Given the description of an element on the screen output the (x, y) to click on. 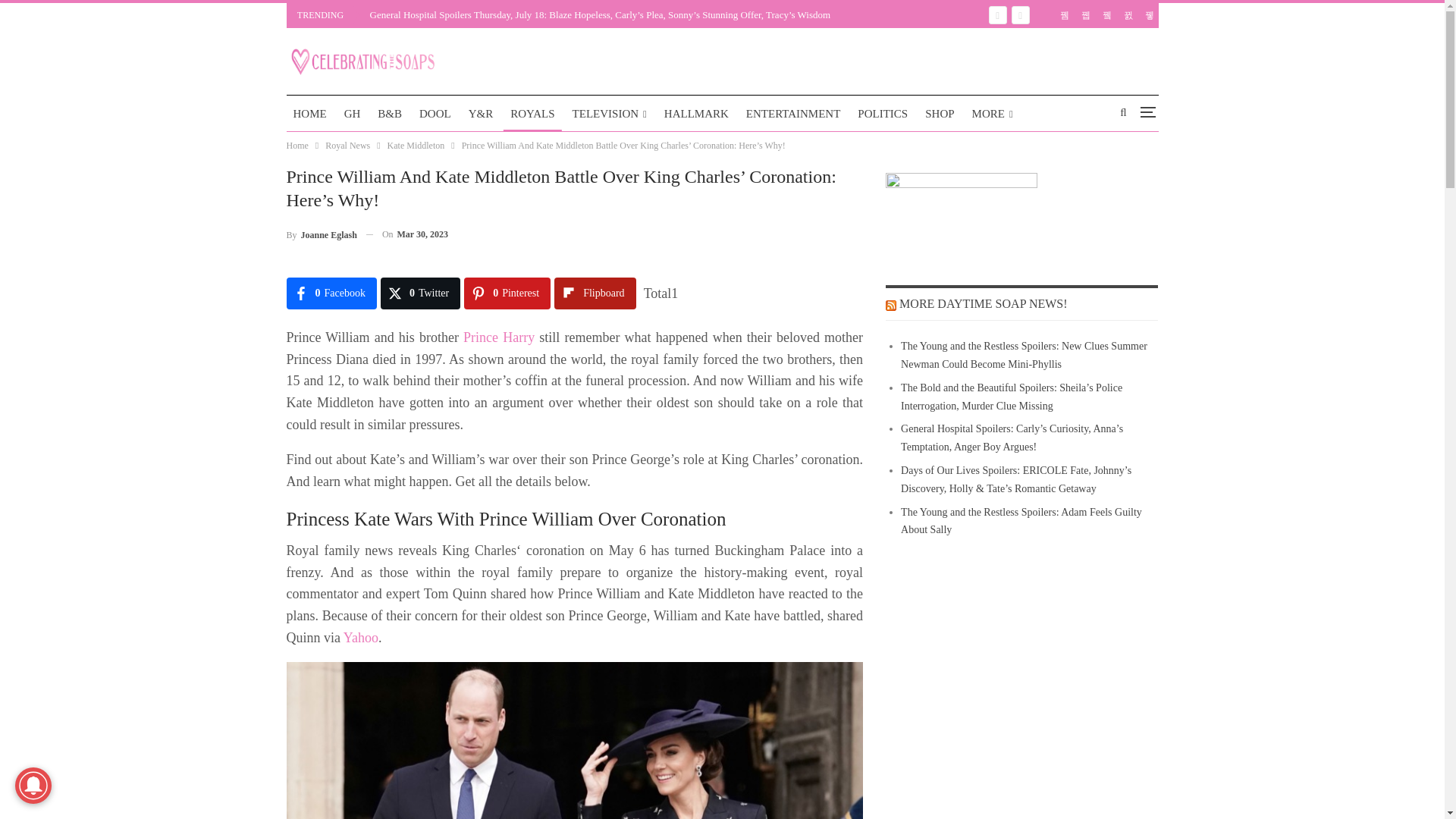
Browse Author Articles (321, 234)
Share on Twitter (420, 293)
Share on Pinterest (507, 293)
DOOL (435, 113)
ROYALS (531, 113)
TELEVISION (609, 113)
Total (660, 293)
HOME (309, 113)
Share on Flipboard (594, 293)
Share on Facebook (331, 293)
